Given the description of an element on the screen output the (x, y) to click on. 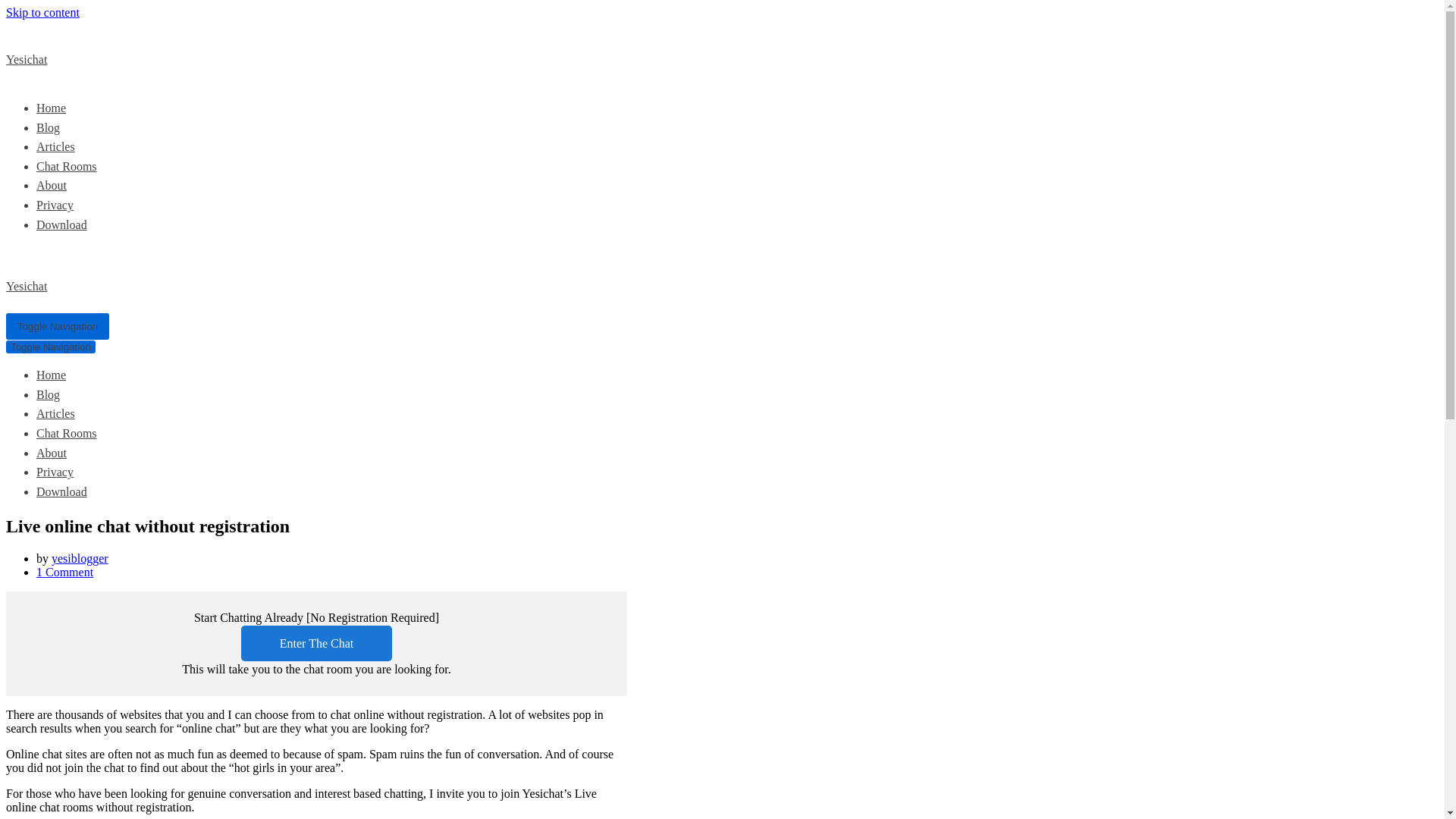
Download (61, 224)
Skip to content (42, 11)
Chat Rooms (66, 165)
About (51, 185)
Privacy (55, 205)
Enter The Chat (316, 642)
Articles (55, 146)
Yesichat (449, 273)
Privacy (55, 472)
Toggle Navigation (50, 346)
